Given the description of an element on the screen output the (x, y) to click on. 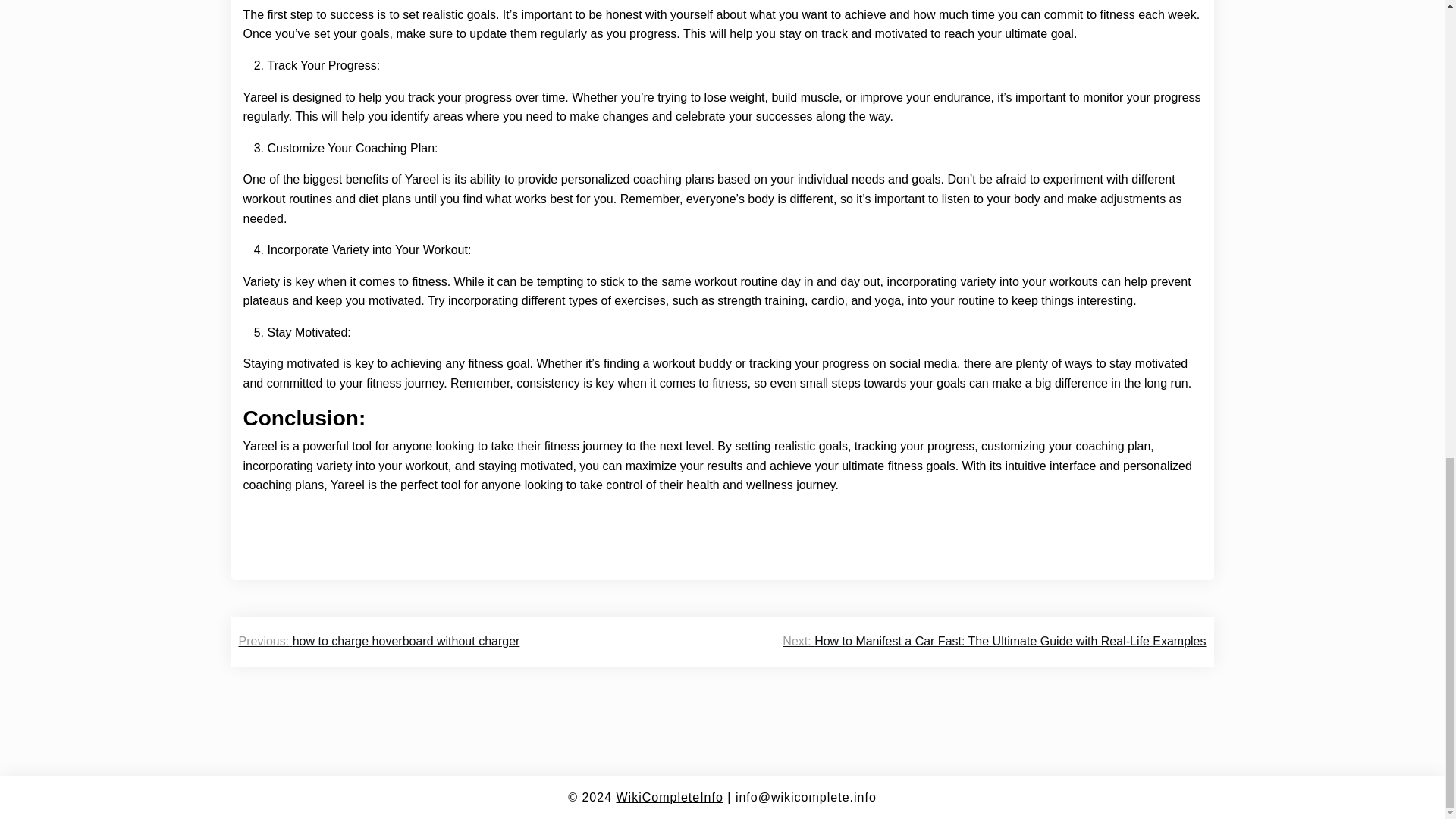
WikiCompleteInfo (668, 797)
Previous: how to charge hoverboard without charger (378, 641)
